Given the description of an element on the screen output the (x, y) to click on. 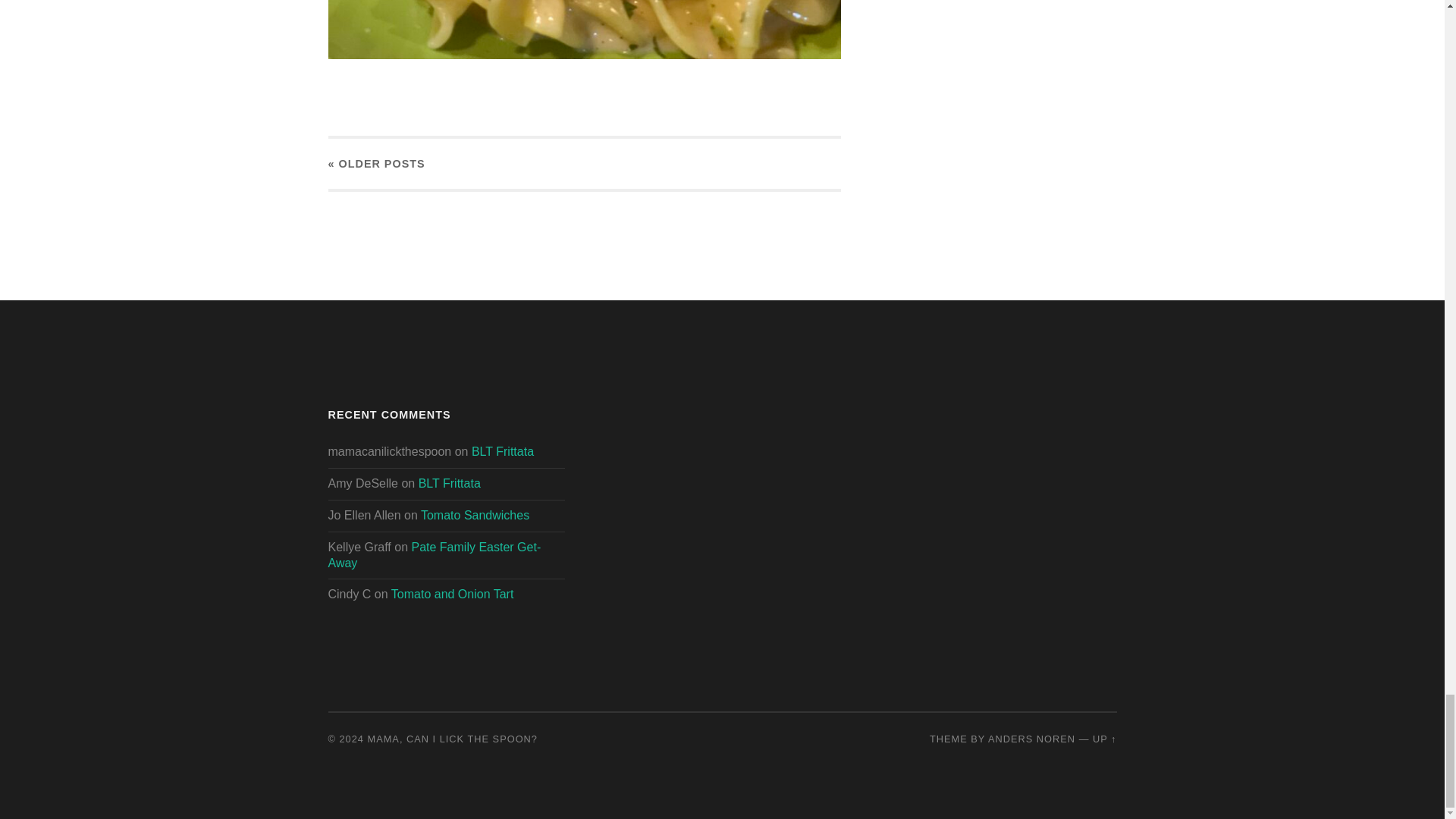
BLT Frittata (449, 482)
To the top (1104, 738)
MAMA, CAN I LICK THE SPOON? (452, 738)
Tomato Sandwiches (474, 514)
BLT Frittata (502, 451)
Pate Family Easter Get-Away (433, 554)
ANDERS NOREN (1031, 738)
Tomato and Onion Tart (452, 594)
